Given the description of an element on the screen output the (x, y) to click on. 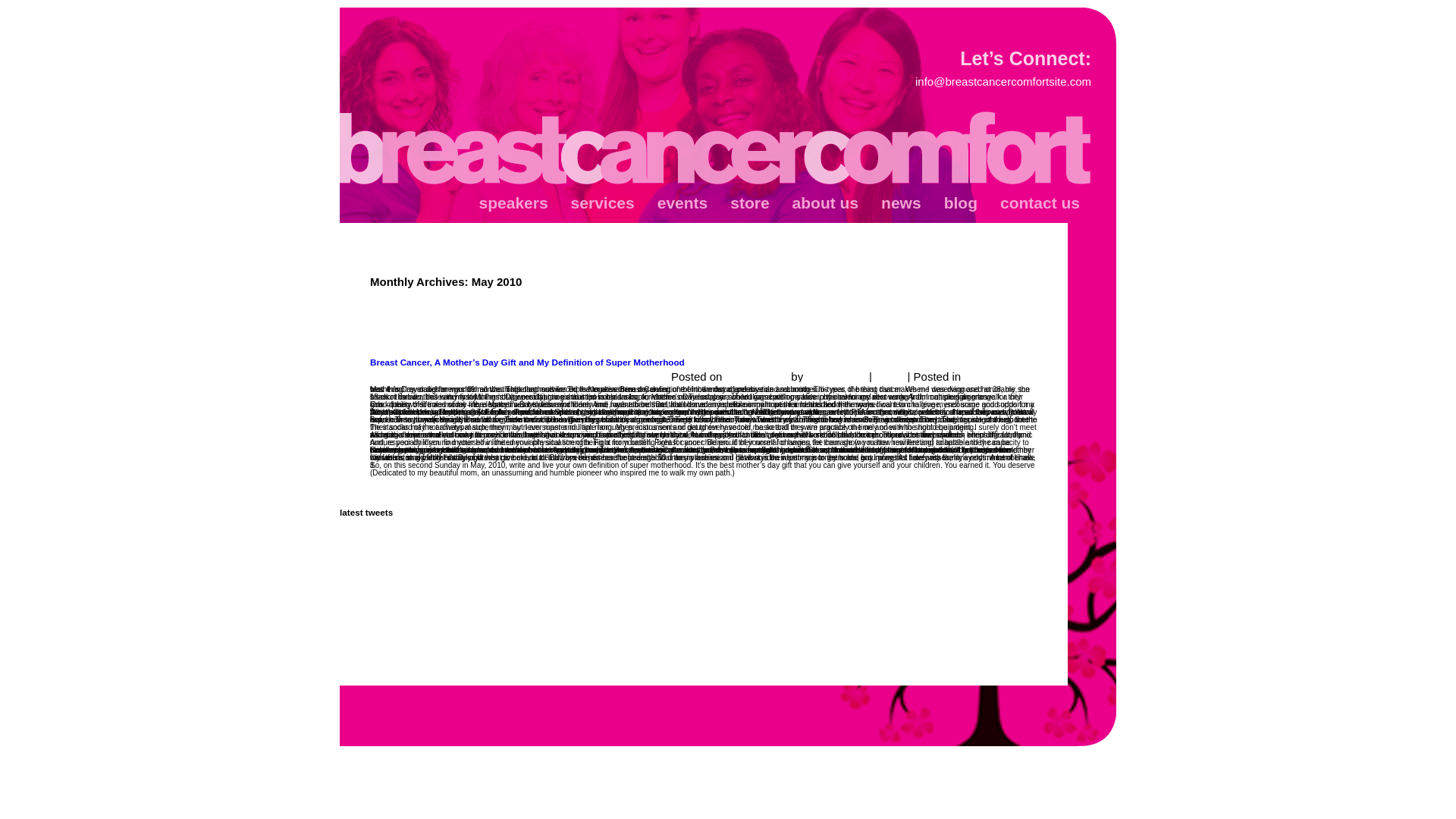
Uncategorized (999, 376)
services (602, 202)
contact us (1039, 202)
12:11 am (757, 376)
about us (825, 202)
events (682, 202)
news (901, 202)
View all posts by Melanie Nix (835, 376)
Breast Cancer Comfort (716, 148)
Breast Cancer Comfort (716, 148)
May 9, 2010 (757, 376)
Melanie Nix (835, 376)
store (749, 202)
speakers (513, 202)
blog (960, 202)
